Given the description of an element on the screen output the (x, y) to click on. 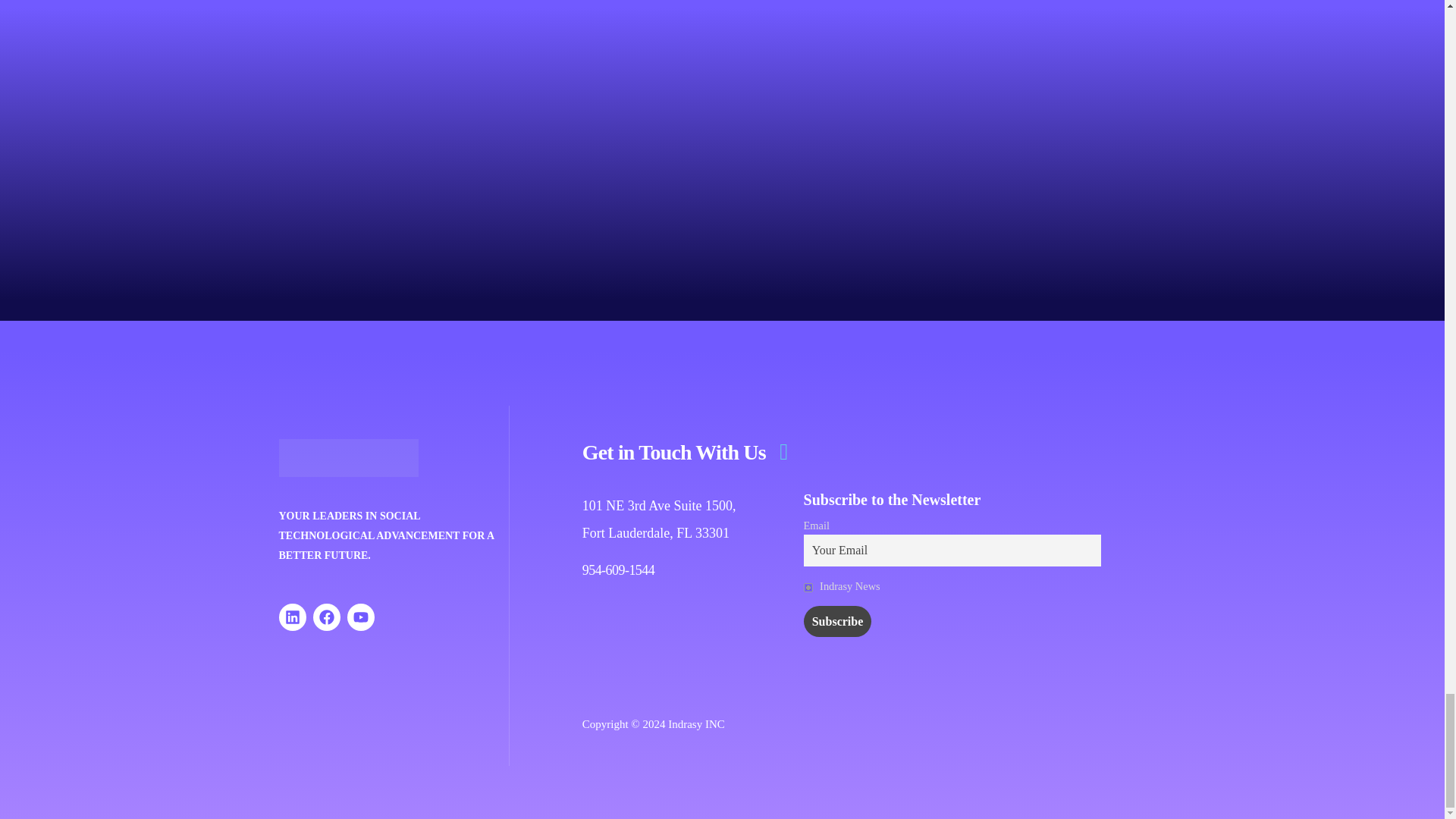
Subscribe (837, 621)
1 (807, 587)
